Given the description of an element on the screen output the (x, y) to click on. 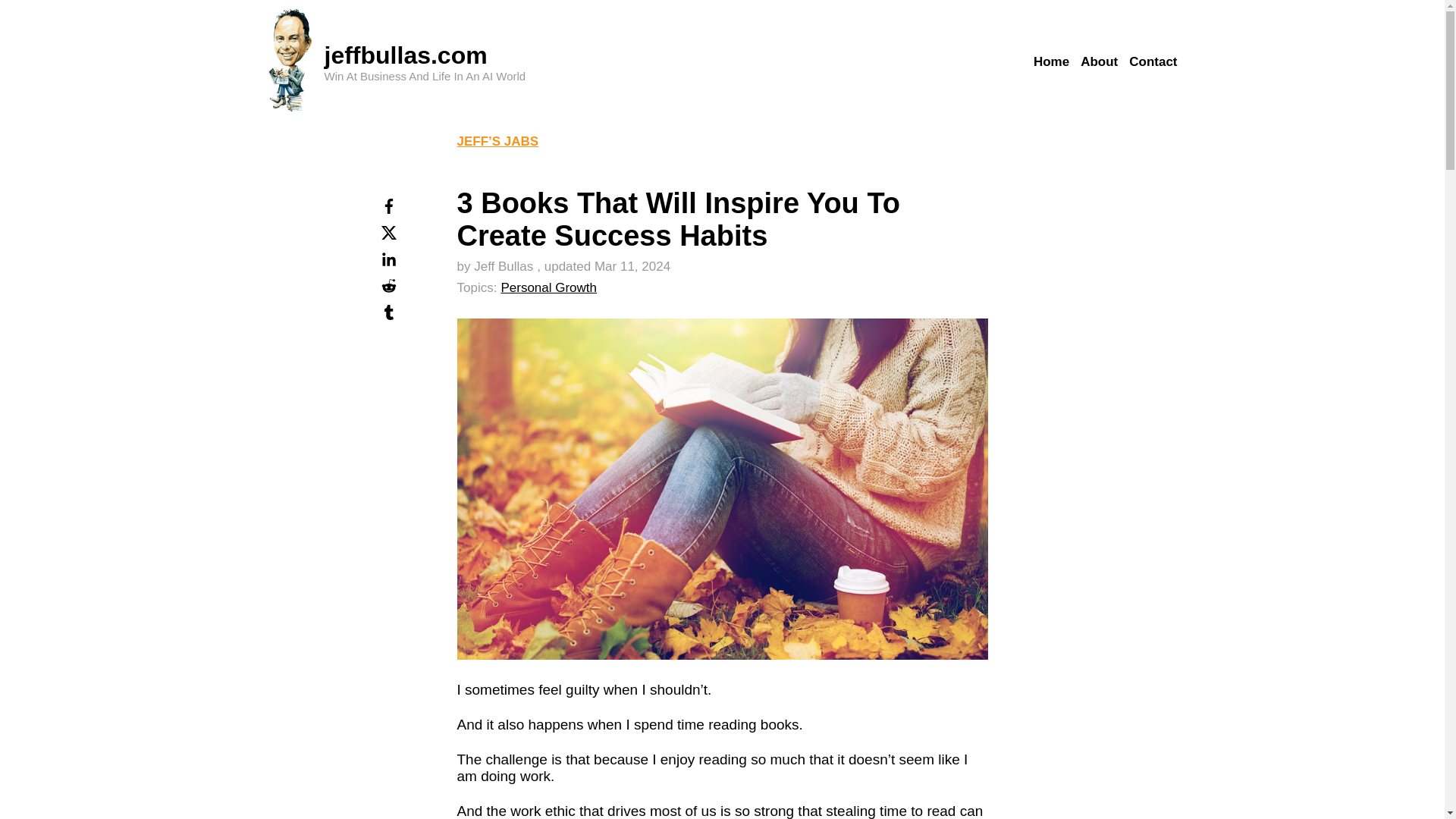
jeffbullas.com (405, 53)
Personal Growth (548, 287)
Contact (1152, 61)
About (1099, 61)
Home (1050, 61)
